Given the description of an element on the screen output the (x, y) to click on. 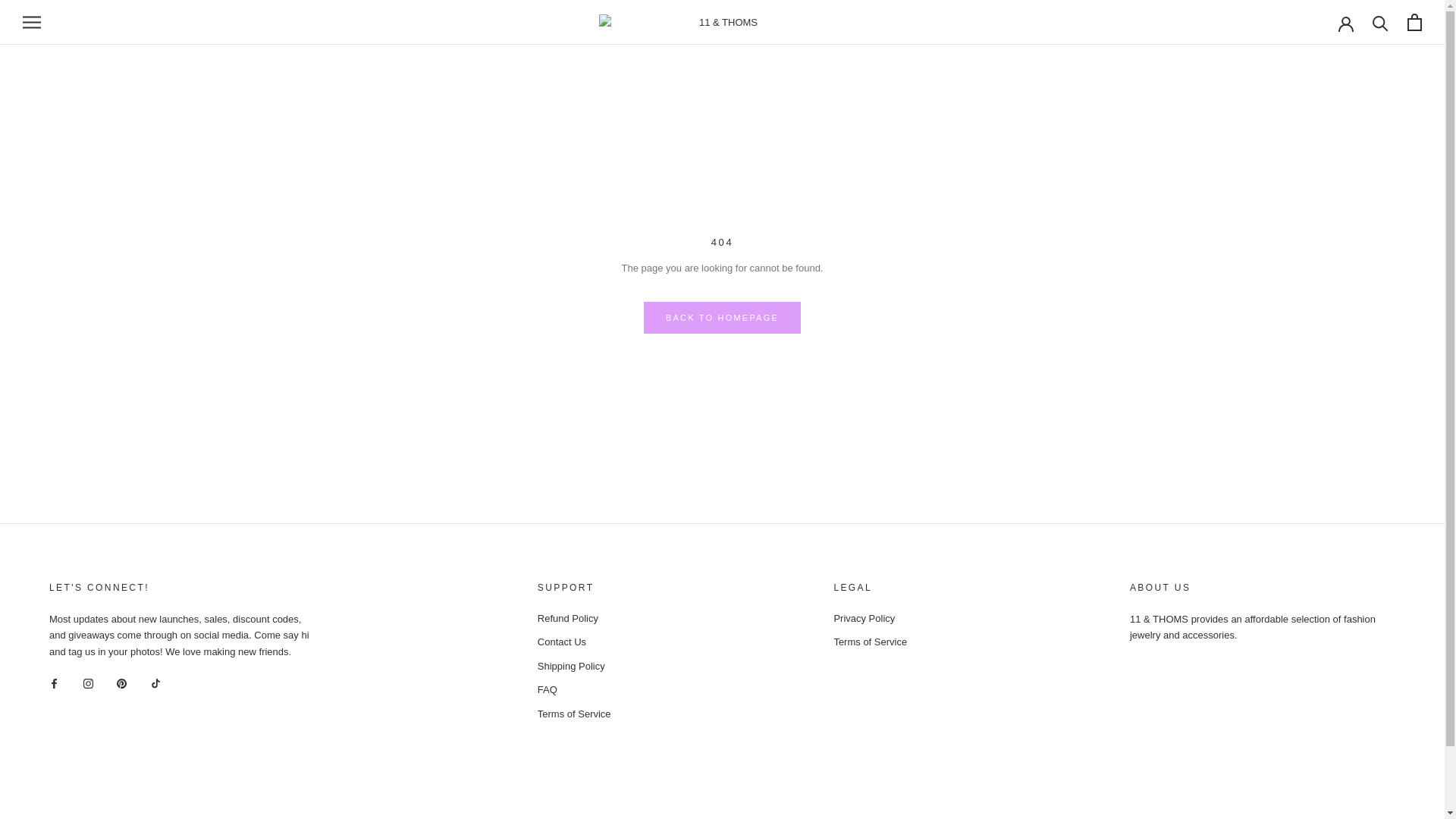
FAQ Element type: text (574, 689)
Terms of Service Element type: text (869, 641)
Terms of Service Element type: text (574, 713)
Refund Policy Element type: text (574, 618)
Shipping Policy Element type: text (574, 666)
BACK TO HOMEPAGE Element type: text (721, 317)
Privacy Policy Element type: text (869, 618)
Contact Us Element type: text (574, 641)
